Given the description of an element on the screen output the (x, y) to click on. 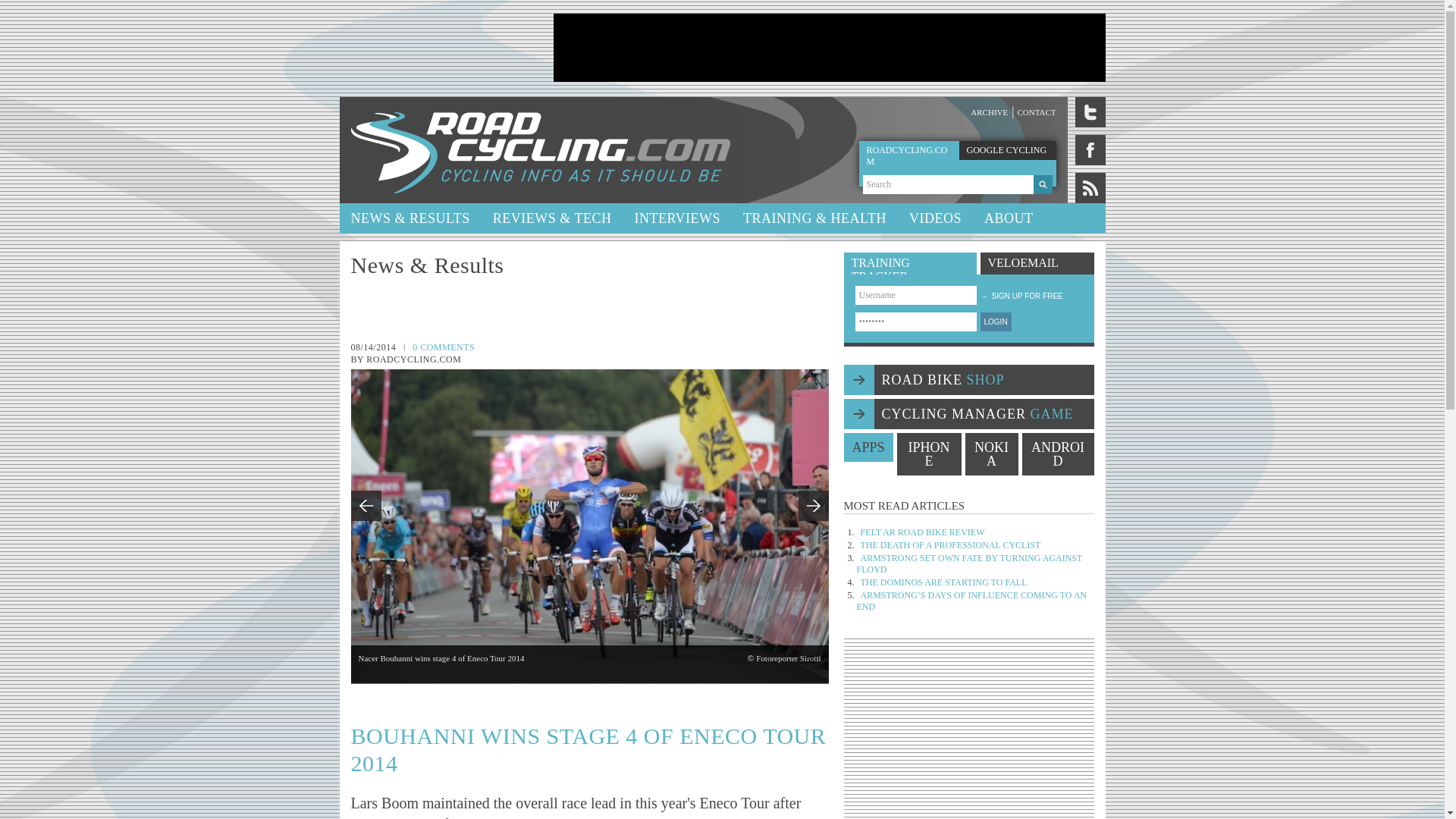
THE DEATH OF A PROFESSIONAL CYCLIST (950, 544)
NOKIA (990, 454)
Advertisement (969, 733)
ABOUT (1008, 218)
ARCHIVE (989, 112)
VIDEOS (935, 218)
Advertisement (829, 47)
LOGIN (994, 321)
THE DOMINOS ARE STARTING TO FALL (943, 582)
Search (948, 184)
